Given the description of an element on the screen output the (x, y) to click on. 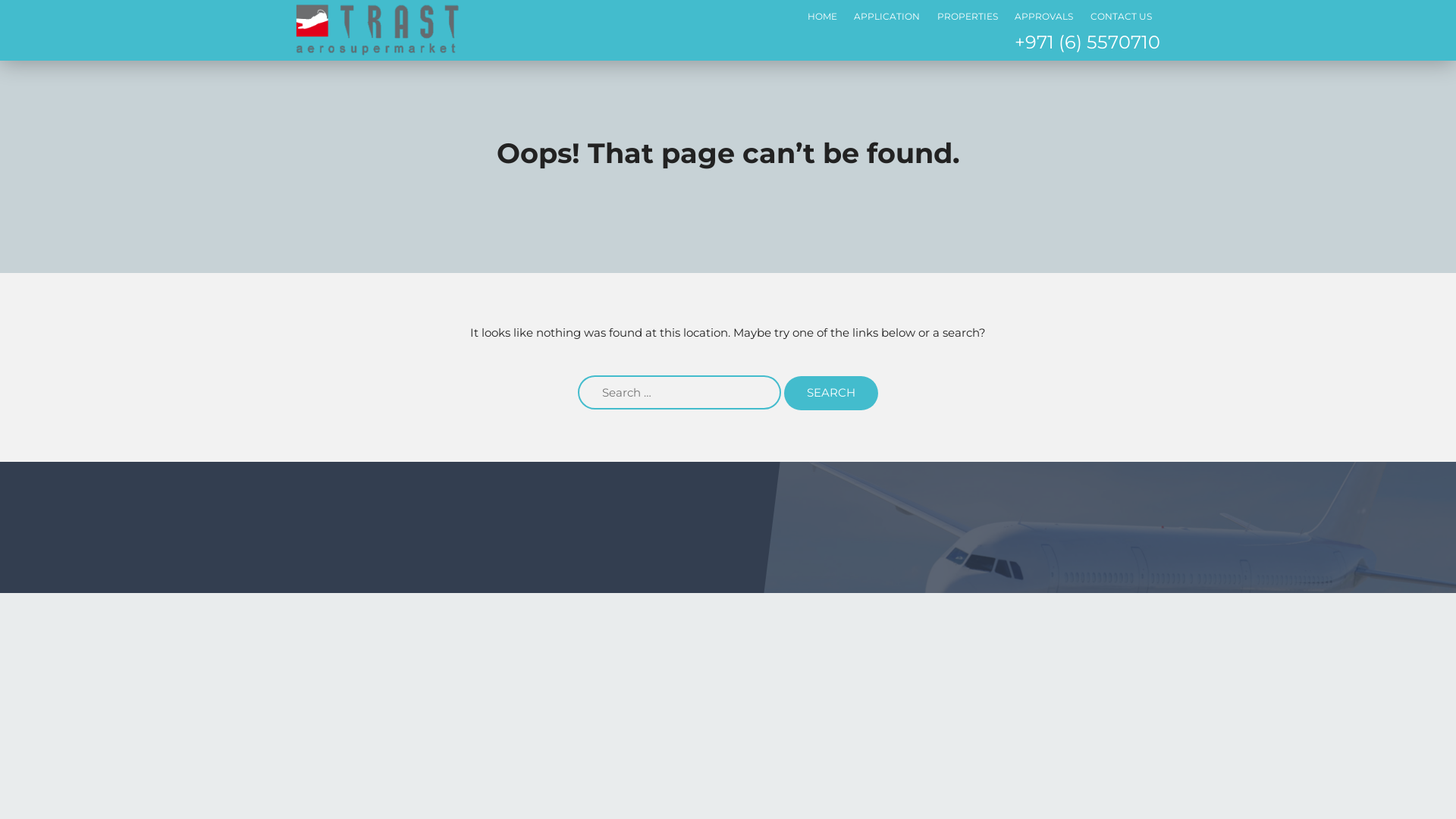
CONTACT US Element type: text (1120, 17)
Search Element type: text (831, 393)
Trast Aero Element type: hover (376, 29)
PROPERTIES Element type: text (967, 17)
APPLICATION Element type: text (886, 17)
HOME Element type: text (822, 17)
APPROVALS Element type: text (1043, 17)
